Given the description of an element on the screen output the (x, y) to click on. 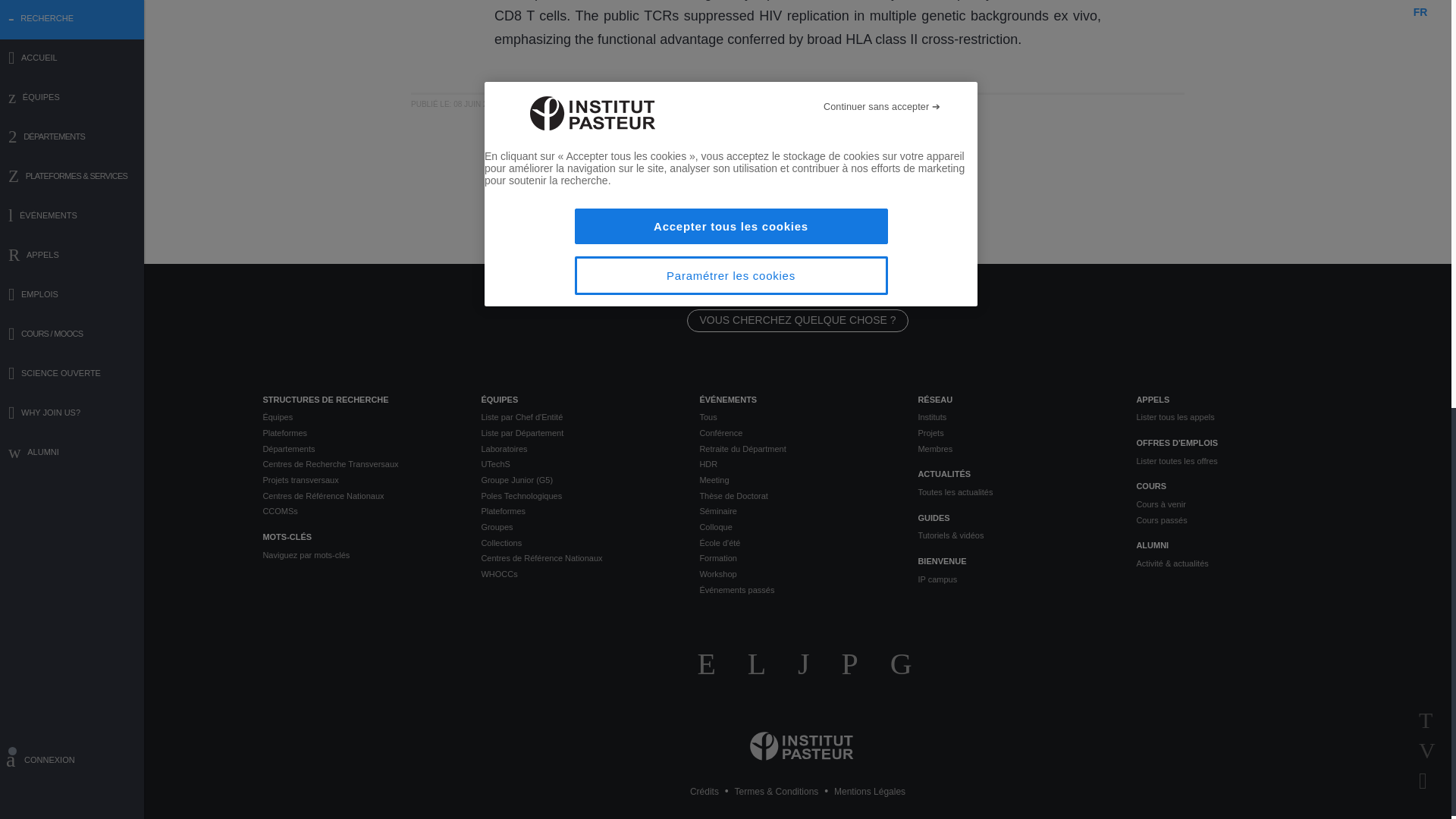
Plateformes (360, 432)
